Given the description of an element on the screen output the (x, y) to click on. 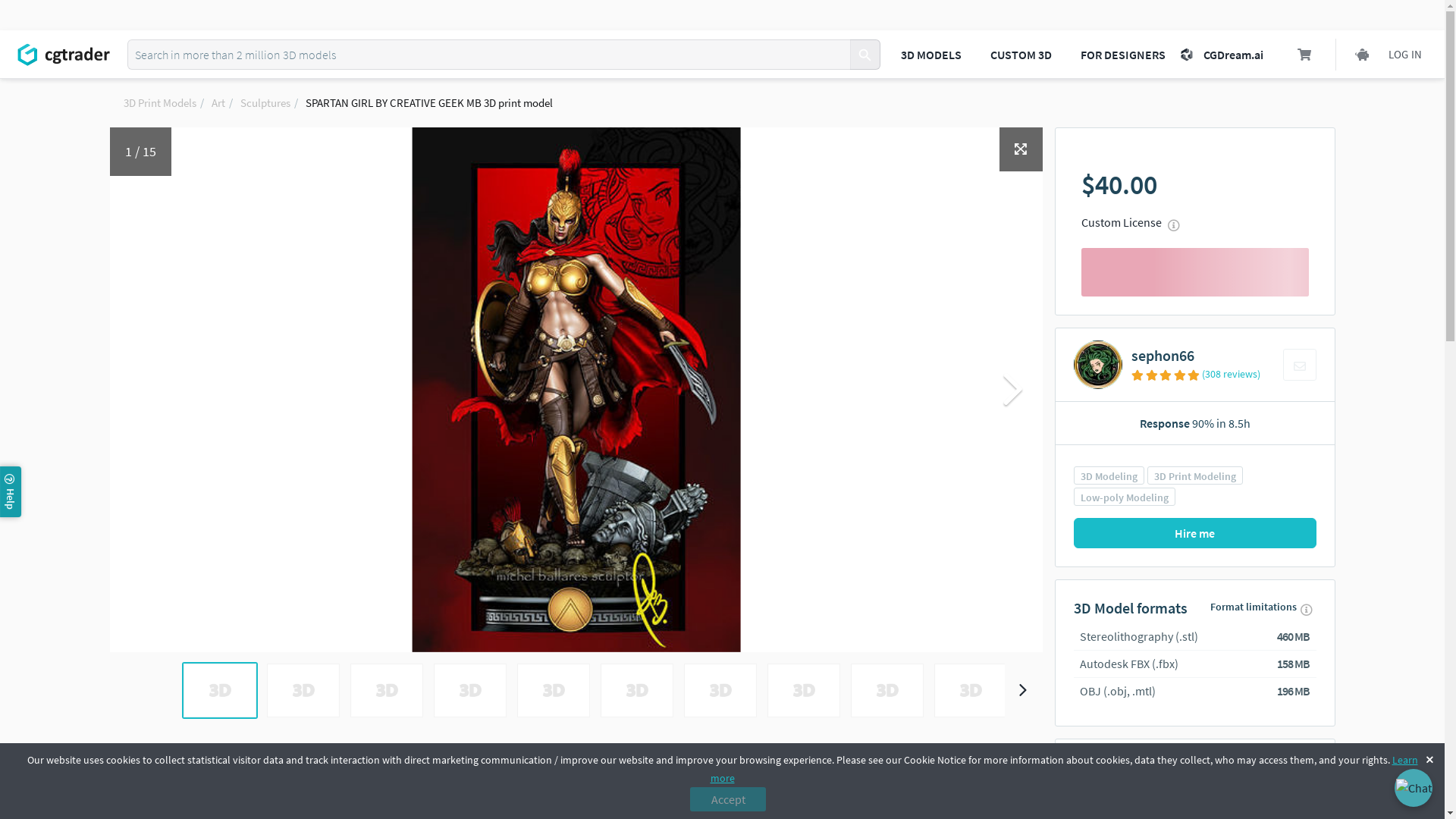
3D MODELS (930, 54)
Art (217, 102)
Accept (727, 799)
CUSTOM 3D (1020, 54)
3D Print Models (158, 102)
Learn more (1063, 768)
Sculptures (264, 102)
